Given the description of an element on the screen output the (x, y) to click on. 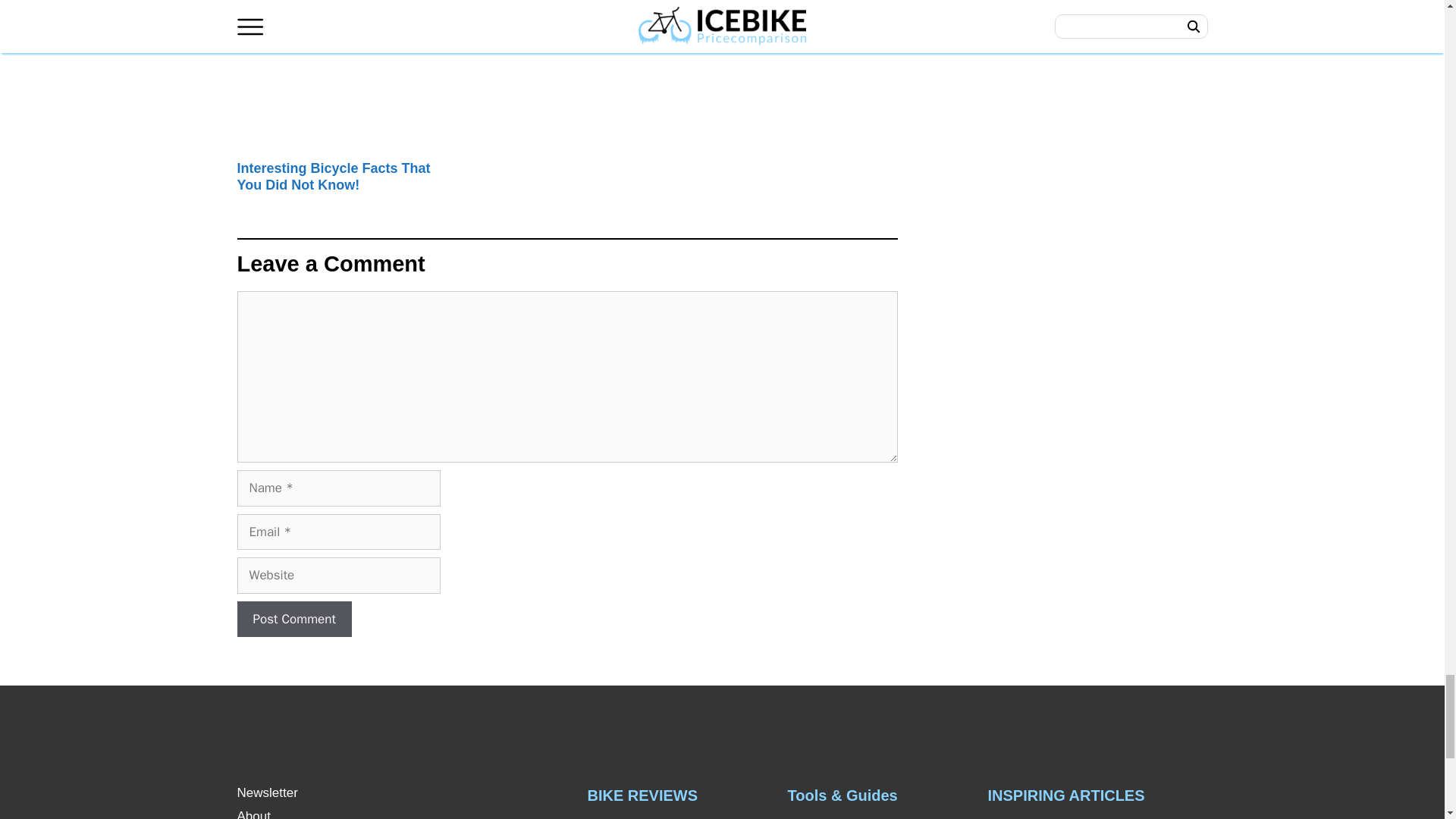
Post Comment (292, 619)
